Given the description of an element on the screen output the (x, y) to click on. 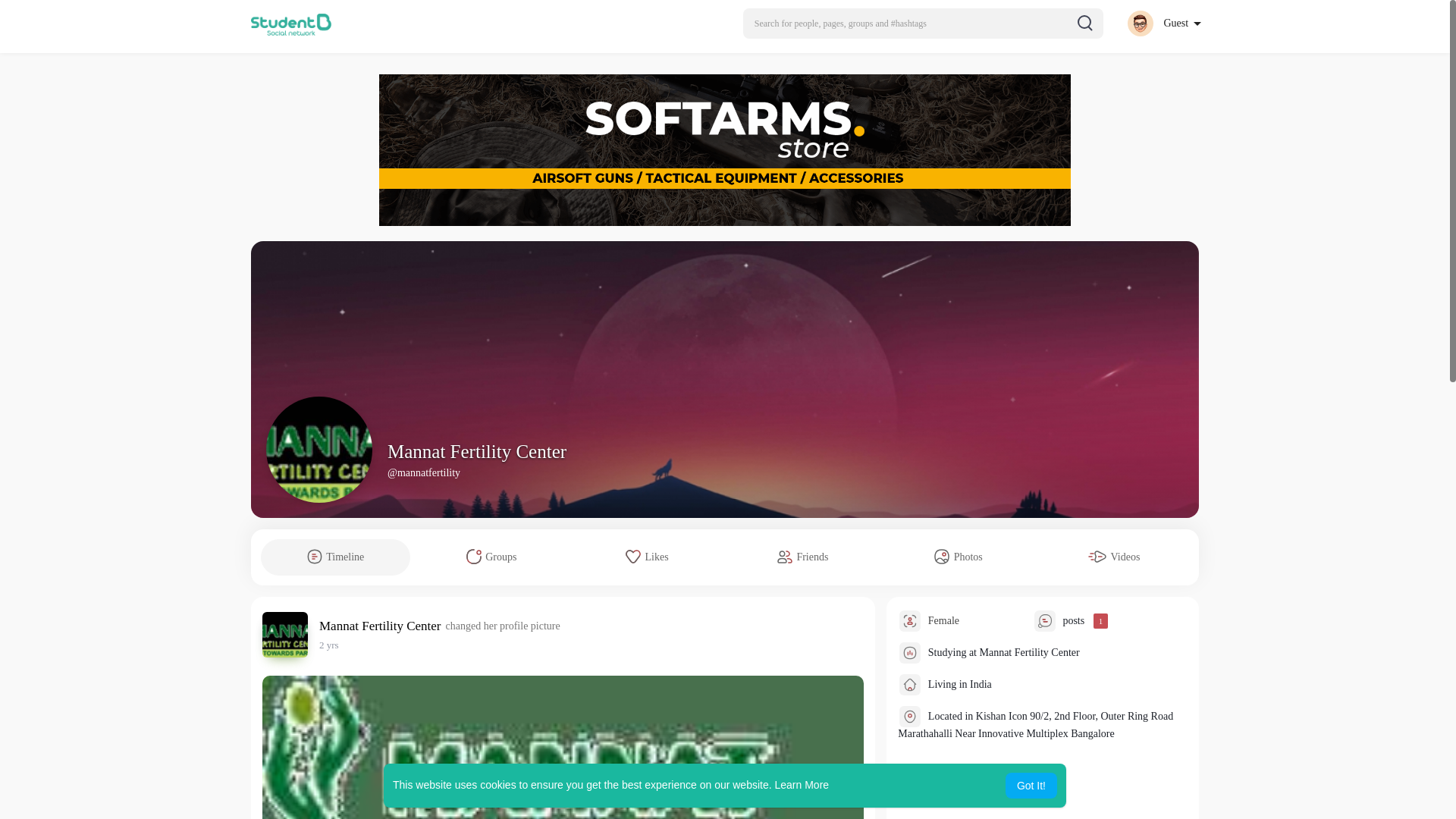
Learn More (801, 784)
2 yrs (328, 644)
2 yrs (328, 644)
Videos (1114, 556)
Guest (1163, 23)
Friends (802, 556)
Timeline (335, 556)
Likes (647, 556)
Mannat Fertility Center (476, 451)
Got It! (1031, 785)
Photos (957, 556)
Groups (491, 556)
Mannat Fertility Center (382, 626)
